Given the description of an element on the screen output the (x, y) to click on. 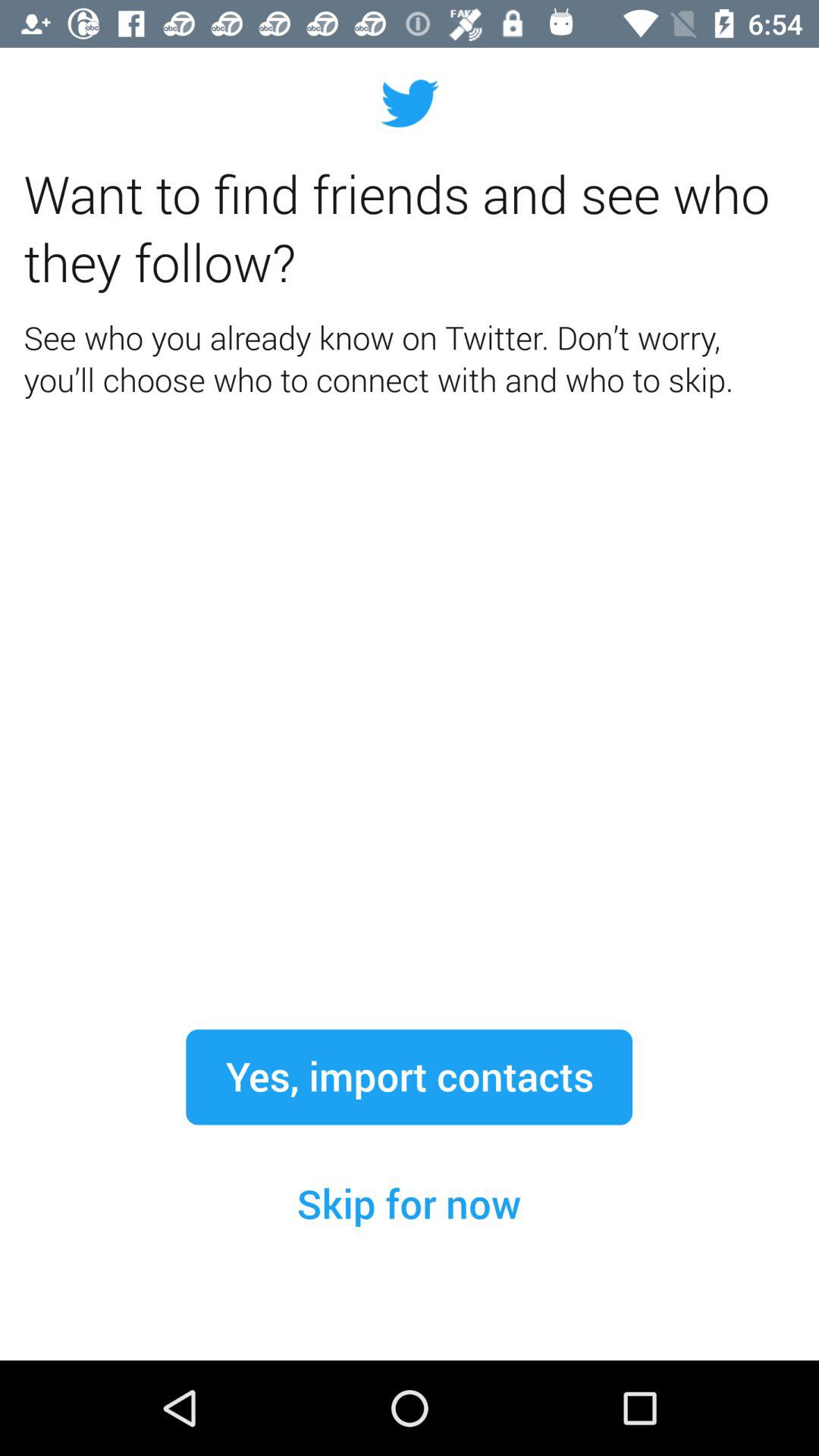
select the skip for now item (408, 1204)
